Given the description of an element on the screen output the (x, y) to click on. 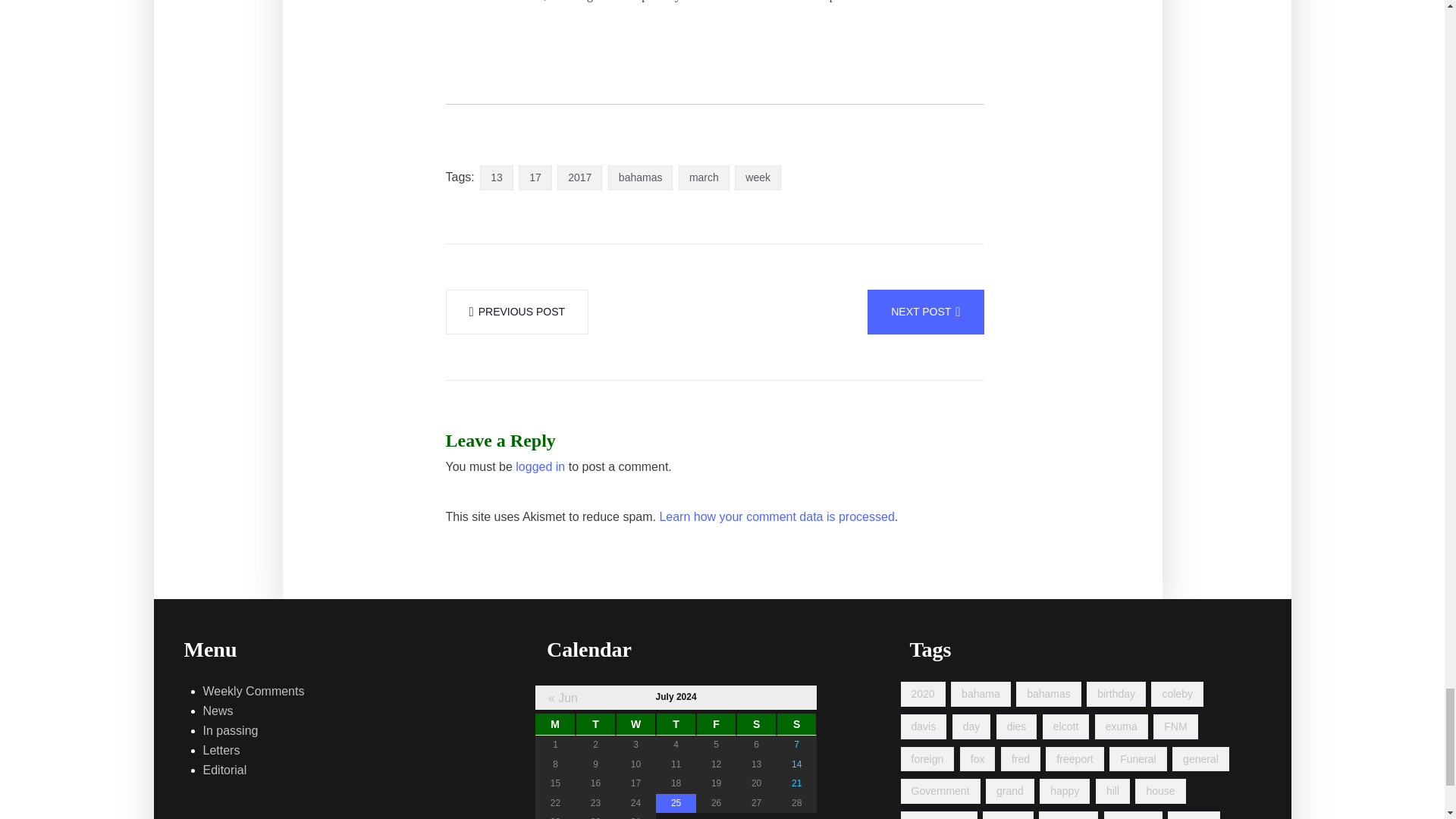
17 (534, 177)
Weekly Comments (253, 691)
march (703, 177)
Thursday (675, 724)
In passing (231, 731)
bahamas (640, 177)
Letters (221, 750)
Tuesday (595, 724)
Learn how your comment data is processed (776, 516)
NEXT POST (925, 311)
2017 (579, 177)
Editorial (225, 770)
Sunday (796, 724)
bahama (980, 693)
week (757, 177)
